Given the description of an element on the screen output the (x, y) to click on. 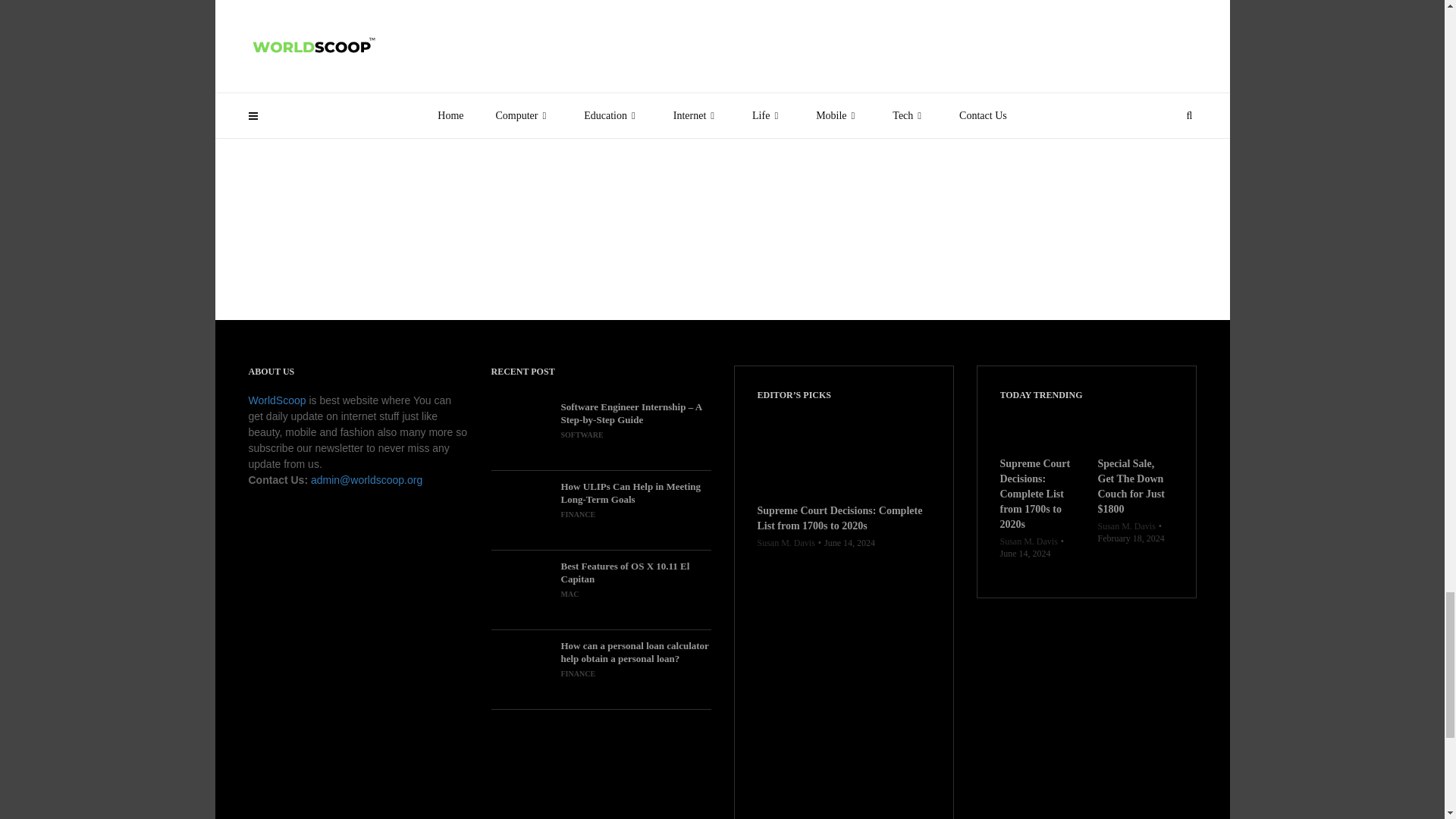
Supreme Court Decisions: Complete List from 1700s to 2020s 8 (1036, 429)
How ULIPs Can Help in Meeting Long-Term Goals 3 (521, 509)
Software Engineer Internship - A Step-by-Step Guide 2 (521, 430)
Supreme Court Decisions: Complete List from 1700s to 2020s 6 (843, 453)
Best Features of OS X 10.11 El Capitan 4 (521, 589)
